Given the description of an element on the screen output the (x, y) to click on. 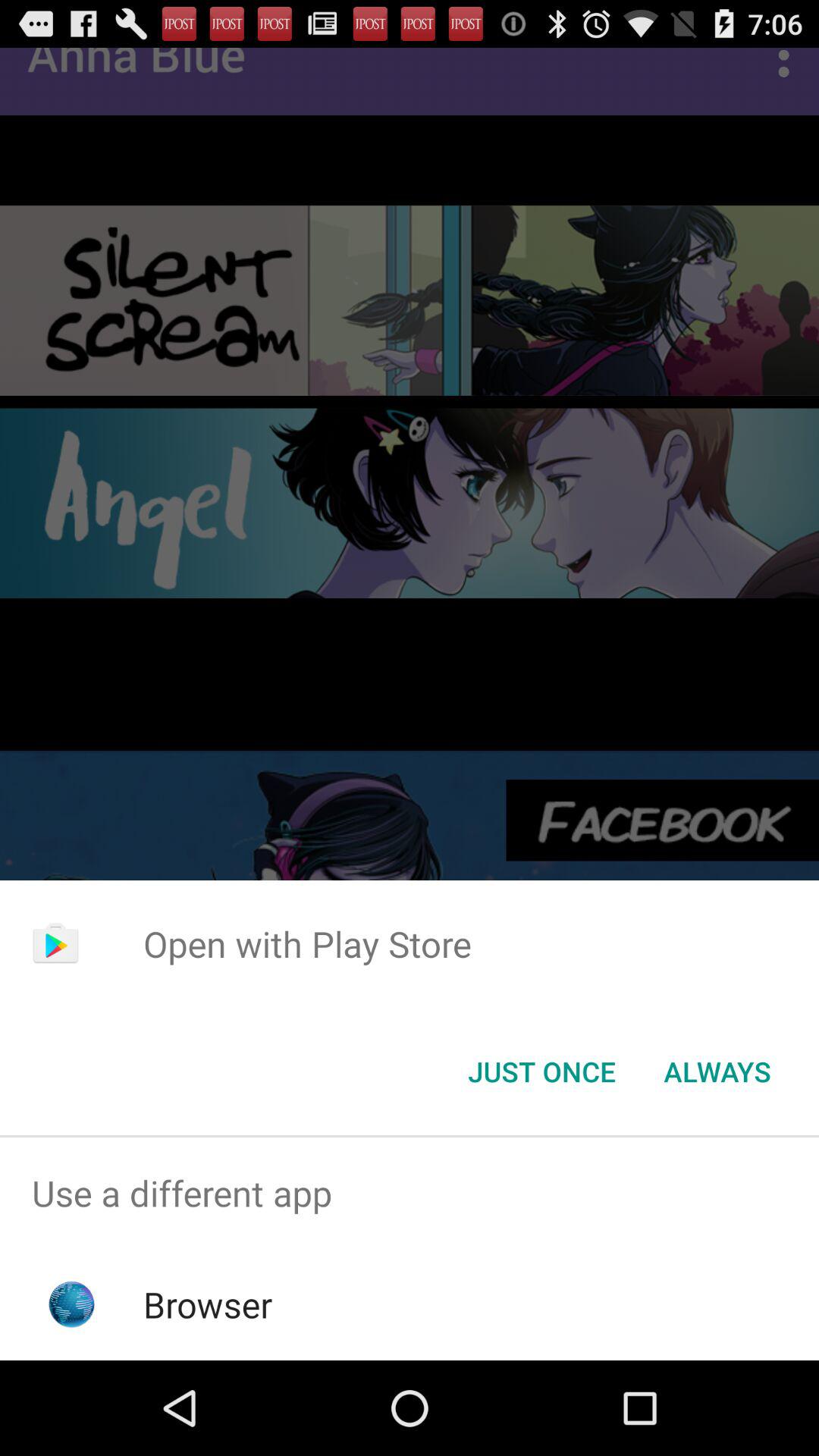
turn on the browser item (207, 1304)
